Given the description of an element on the screen output the (x, y) to click on. 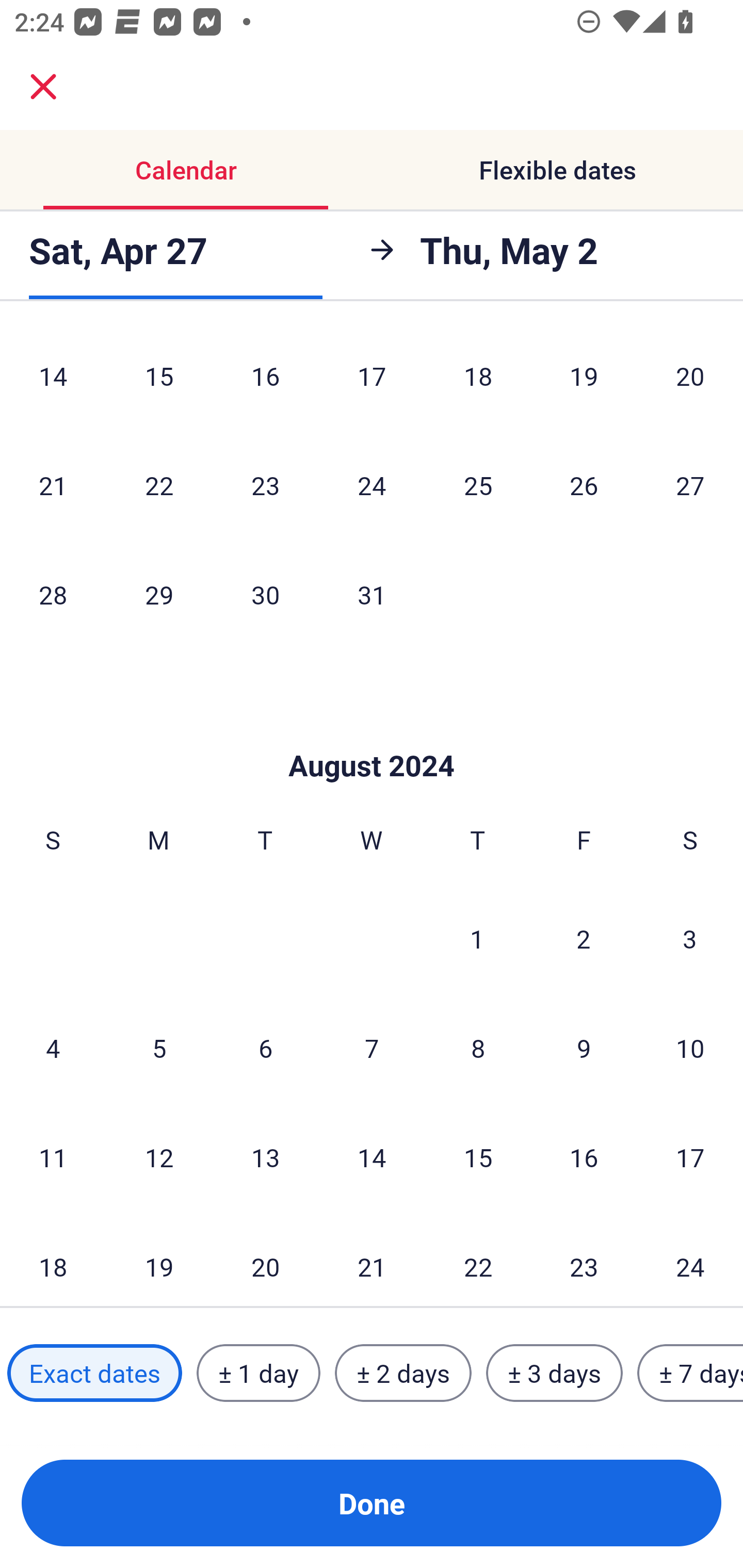
close. (43, 86)
Flexible dates (557, 170)
14 Sunday, July 14, 2024 (53, 379)
15 Monday, July 15, 2024 (159, 379)
16 Tuesday, July 16, 2024 (265, 379)
17 Wednesday, July 17, 2024 (371, 379)
18 Thursday, July 18, 2024 (477, 379)
19 Friday, July 19, 2024 (584, 379)
20 Saturday, July 20, 2024 (690, 379)
21 Sunday, July 21, 2024 (53, 484)
22 Monday, July 22, 2024 (159, 484)
23 Tuesday, July 23, 2024 (265, 484)
24 Wednesday, July 24, 2024 (371, 484)
25 Thursday, July 25, 2024 (477, 484)
26 Friday, July 26, 2024 (584, 484)
27 Saturday, July 27, 2024 (690, 484)
28 Sunday, July 28, 2024 (53, 593)
29 Monday, July 29, 2024 (159, 593)
30 Tuesday, July 30, 2024 (265, 593)
31 Wednesday, July 31, 2024 (371, 593)
Skip to Done (371, 734)
1 Thursday, August 1, 2024 (477, 937)
2 Friday, August 2, 2024 (583, 937)
3 Saturday, August 3, 2024 (689, 937)
4 Sunday, August 4, 2024 (53, 1047)
5 Monday, August 5, 2024 (159, 1047)
6 Tuesday, August 6, 2024 (265, 1047)
7 Wednesday, August 7, 2024 (371, 1047)
8 Thursday, August 8, 2024 (477, 1047)
9 Friday, August 9, 2024 (584, 1047)
10 Saturday, August 10, 2024 (690, 1047)
11 Sunday, August 11, 2024 (53, 1156)
12 Monday, August 12, 2024 (159, 1156)
13 Tuesday, August 13, 2024 (265, 1156)
14 Wednesday, August 14, 2024 (371, 1156)
15 Thursday, August 15, 2024 (477, 1156)
16 Friday, August 16, 2024 (584, 1156)
17 Saturday, August 17, 2024 (690, 1156)
18 Sunday, August 18, 2024 (53, 1259)
19 Monday, August 19, 2024 (159, 1259)
20 Tuesday, August 20, 2024 (265, 1259)
21 Wednesday, August 21, 2024 (371, 1259)
22 Thursday, August 22, 2024 (477, 1259)
23 Friday, August 23, 2024 (584, 1259)
24 Saturday, August 24, 2024 (690, 1259)
Exact dates (94, 1372)
± 1 day (258, 1372)
± 2 days (403, 1372)
± 3 days (553, 1372)
± 7 days (690, 1372)
